Given the description of an element on the screen output the (x, y) to click on. 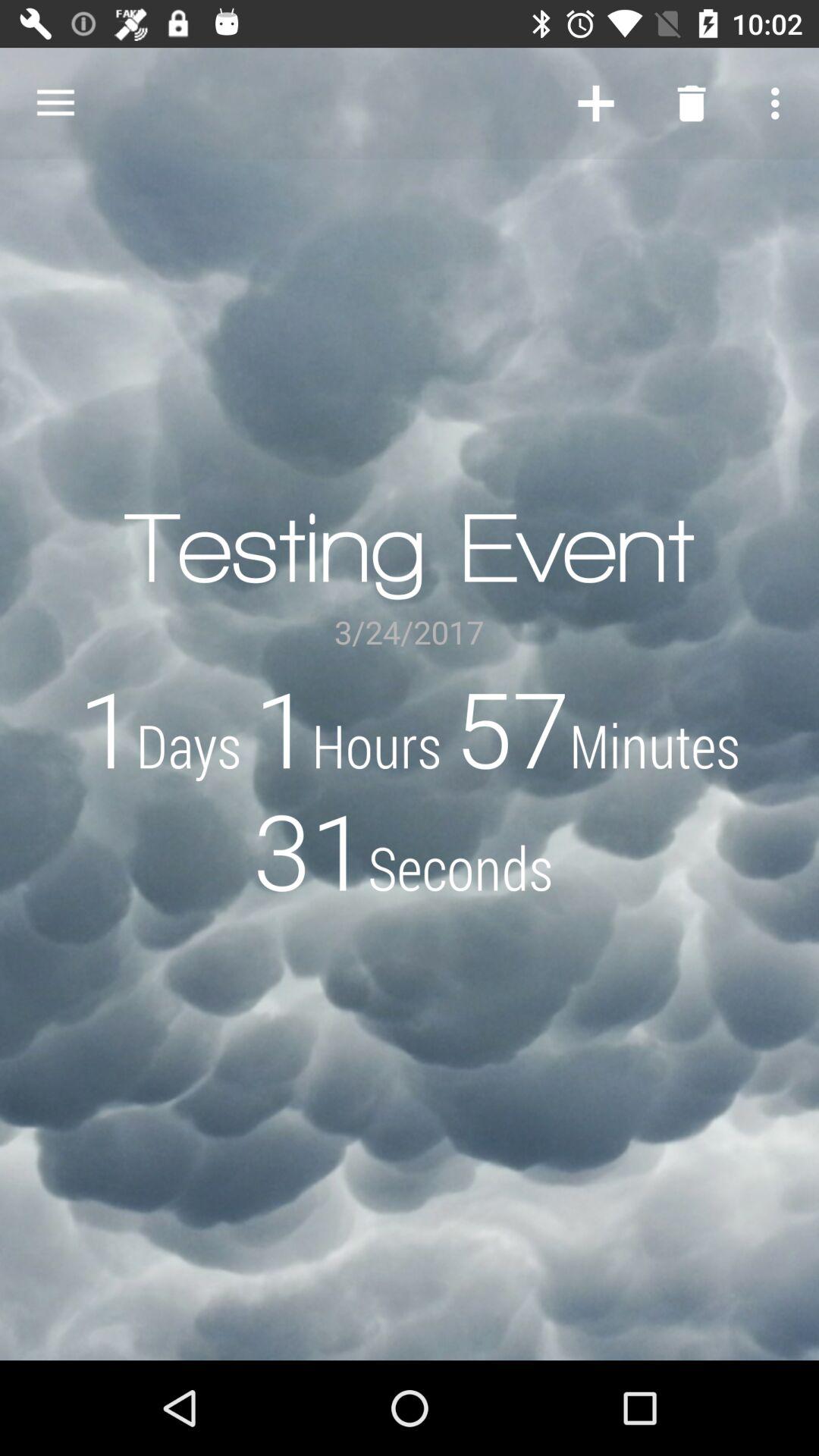
choose icon above the testing event (595, 103)
